Given the description of an element on the screen output the (x, y) to click on. 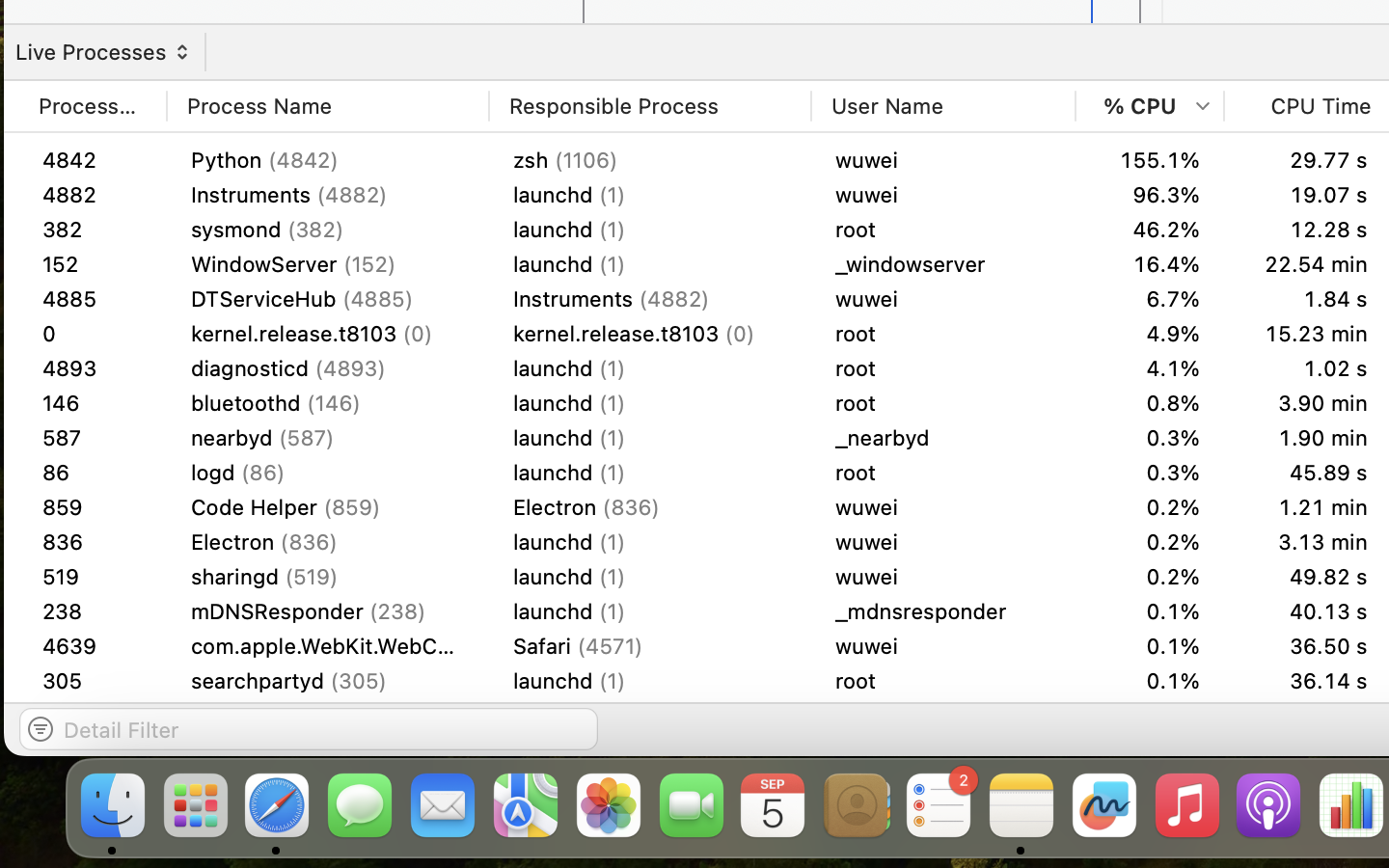
827.16 ms Element type: AXStaticText (1307, 367)
4882 Element type: AXStaticText (92, 194)
49.79 s Element type: AXStaticText (1307, 506)
corespeechd (658) Element type: AXStaticText (327, 611)
40.12 s Element type: AXStaticText (1307, 715)
